Given the description of an element on the screen output the (x, y) to click on. 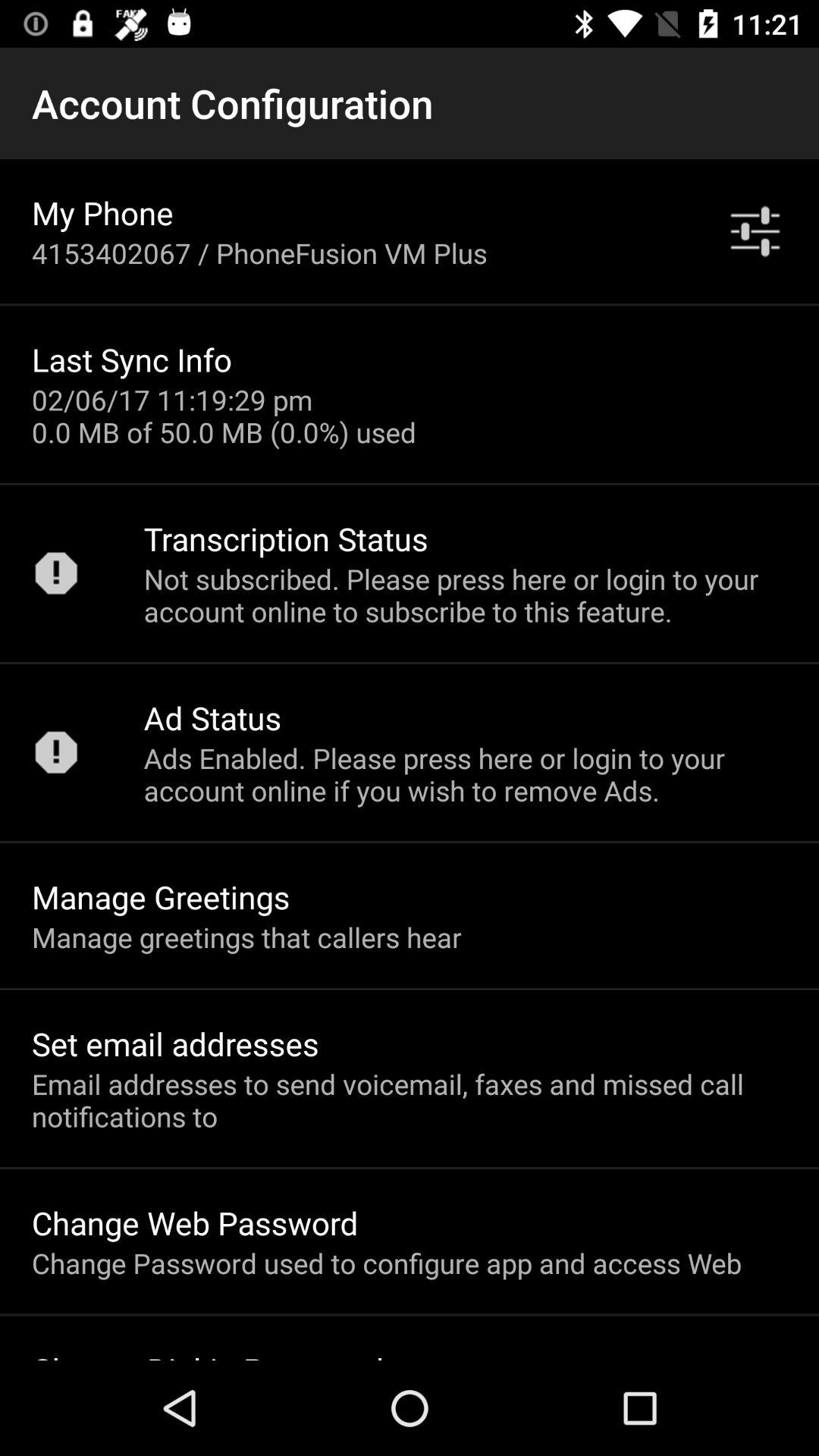
turn off the item above ads enabled please item (212, 717)
